Given the description of an element on the screen output the (x, y) to click on. 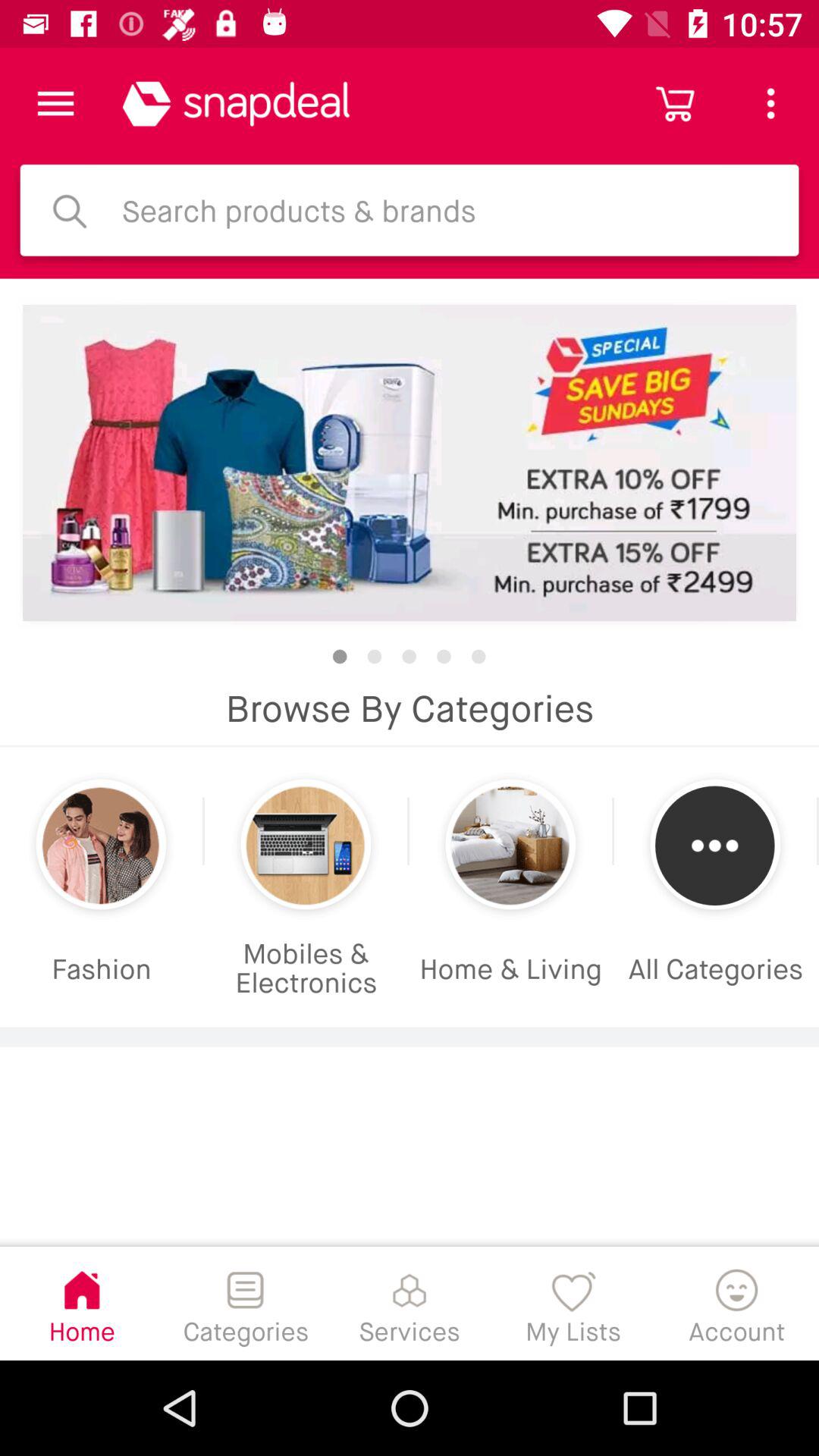
menu bar (55, 103)
